Given the description of an element on the screen output the (x, y) to click on. 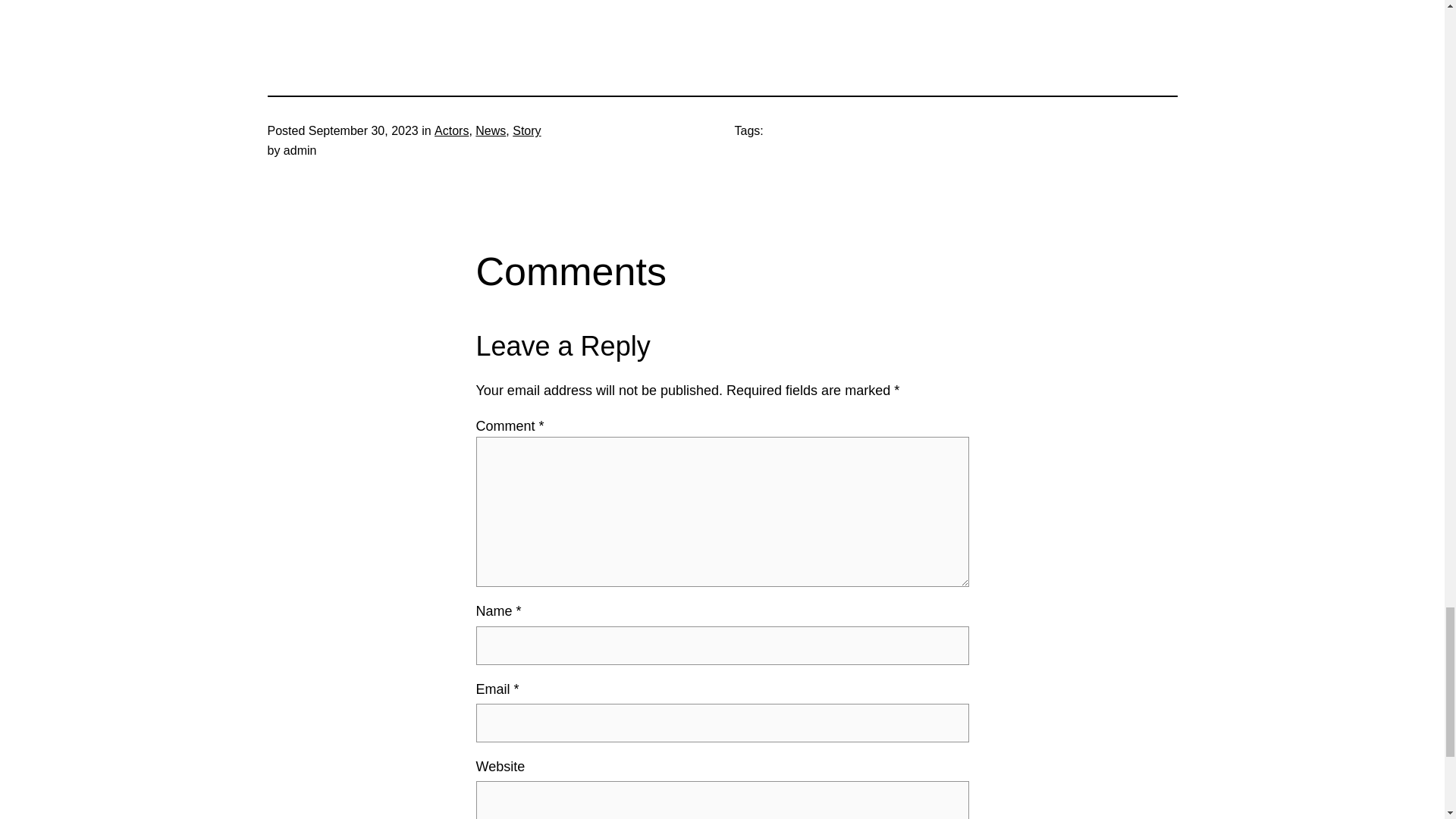
News (490, 130)
Actors (450, 130)
Story (526, 130)
